Given the description of an element on the screen output the (x, y) to click on. 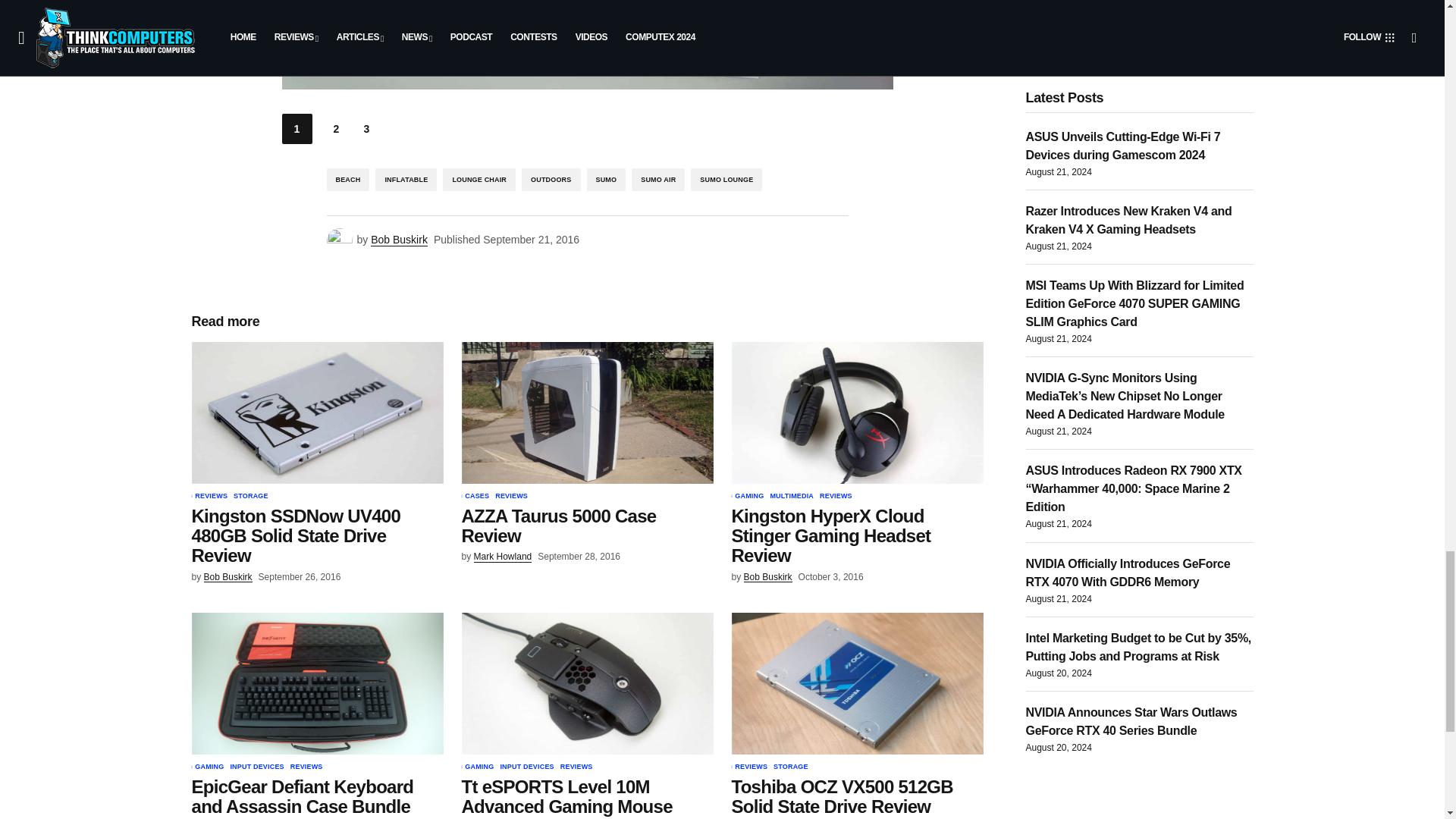
Toshiba OCZ VX500 512GB Solid State Drive Review (856, 683)
Kingston HyperX Cloud Stinger Gaming Headset Review (856, 413)
AZZA Taurus 5000 Case Review (587, 413)
EpicGear Defiant Keyboard and Assassin Case Bundle Review (316, 683)
Tt eSPORTS Level 10M Advanced Gaming Mouse Review (587, 683)
Kingston SSDNow UV400 480GB Solid State Drive Review (316, 413)
